Given the description of an element on the screen output the (x, y) to click on. 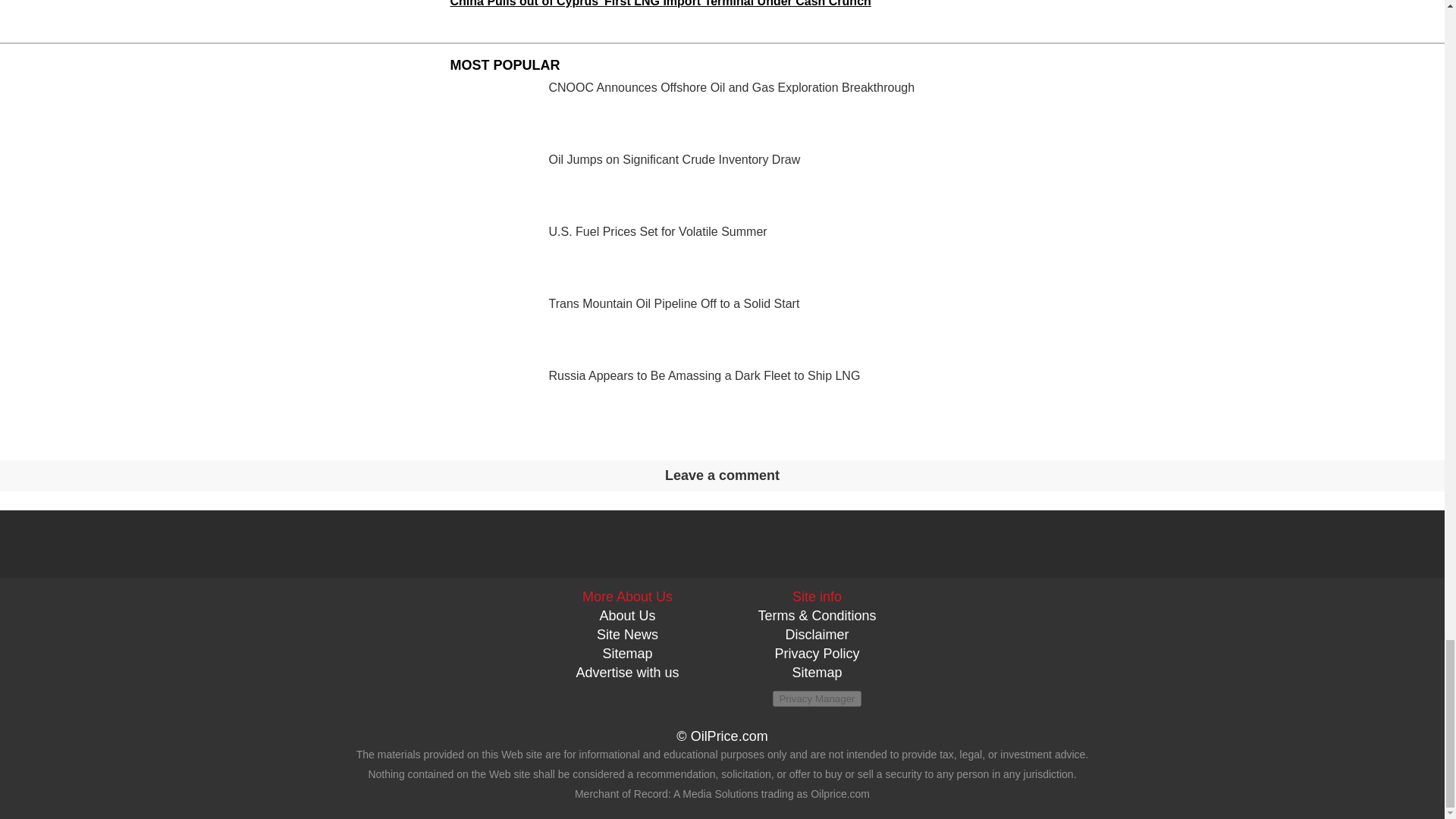
About Us (626, 615)
Site info (816, 596)
Sitemap (627, 653)
Advertise with us (626, 672)
Sitemap (816, 672)
Site News (627, 634)
U.S. Fuel Prices Set for Volatile Summer (721, 257)
Oil Jumps on Significant Crude Inventory Draw (721, 185)
Privacy Policy (816, 653)
Disclaimer (816, 634)
More About Us (627, 596)
Russia Appears to Be Amassing a Dark Fleet to Ship LNG (721, 401)
Trans Mountain Oil Pipeline Off to a Solid Start (721, 329)
